Given the description of an element on the screen output the (x, y) to click on. 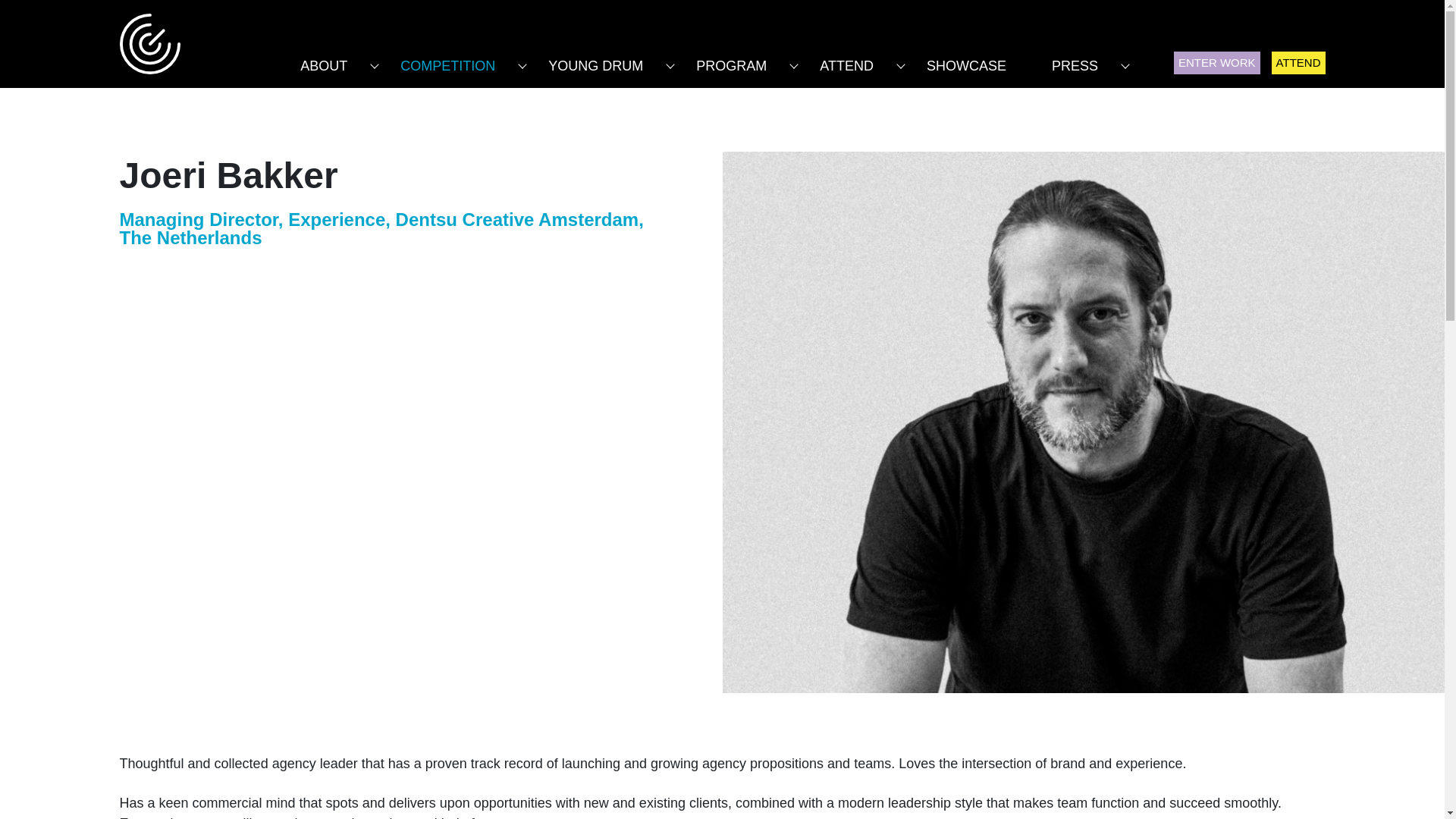
ABOUT (323, 59)
YOUNG DRUM (595, 59)
PROGRAM (730, 59)
COMPETITION (447, 59)
